Given the description of an element on the screen output the (x, y) to click on. 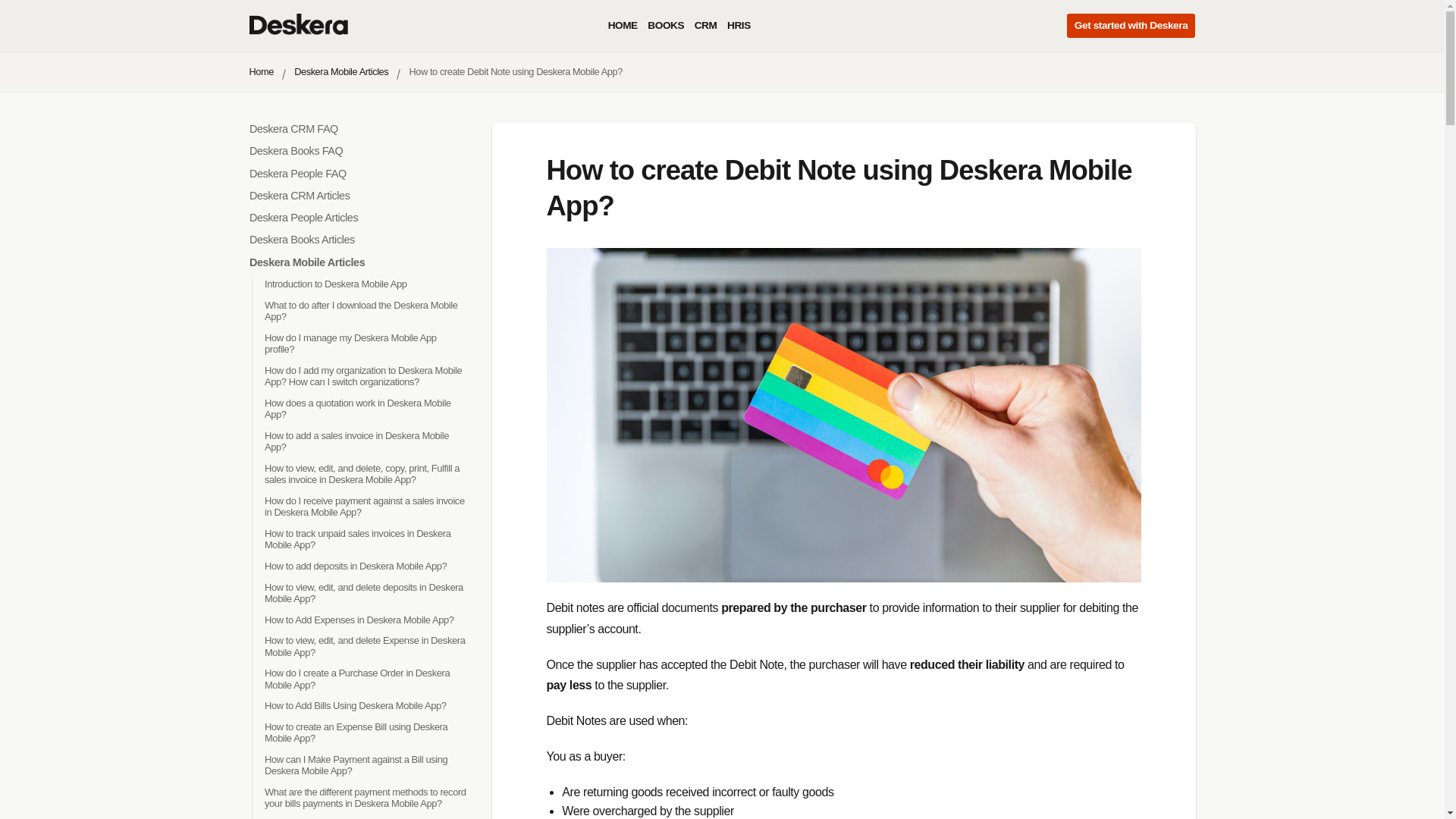
HOME (622, 25)
Get started with Deskera (1131, 25)
Deskera CRM FAQ (292, 128)
CRM (705, 25)
HRIS (739, 25)
Deskera Mobile Articles (341, 71)
Home (260, 71)
BOOKS (666, 25)
